Given the description of an element on the screen output the (x, y) to click on. 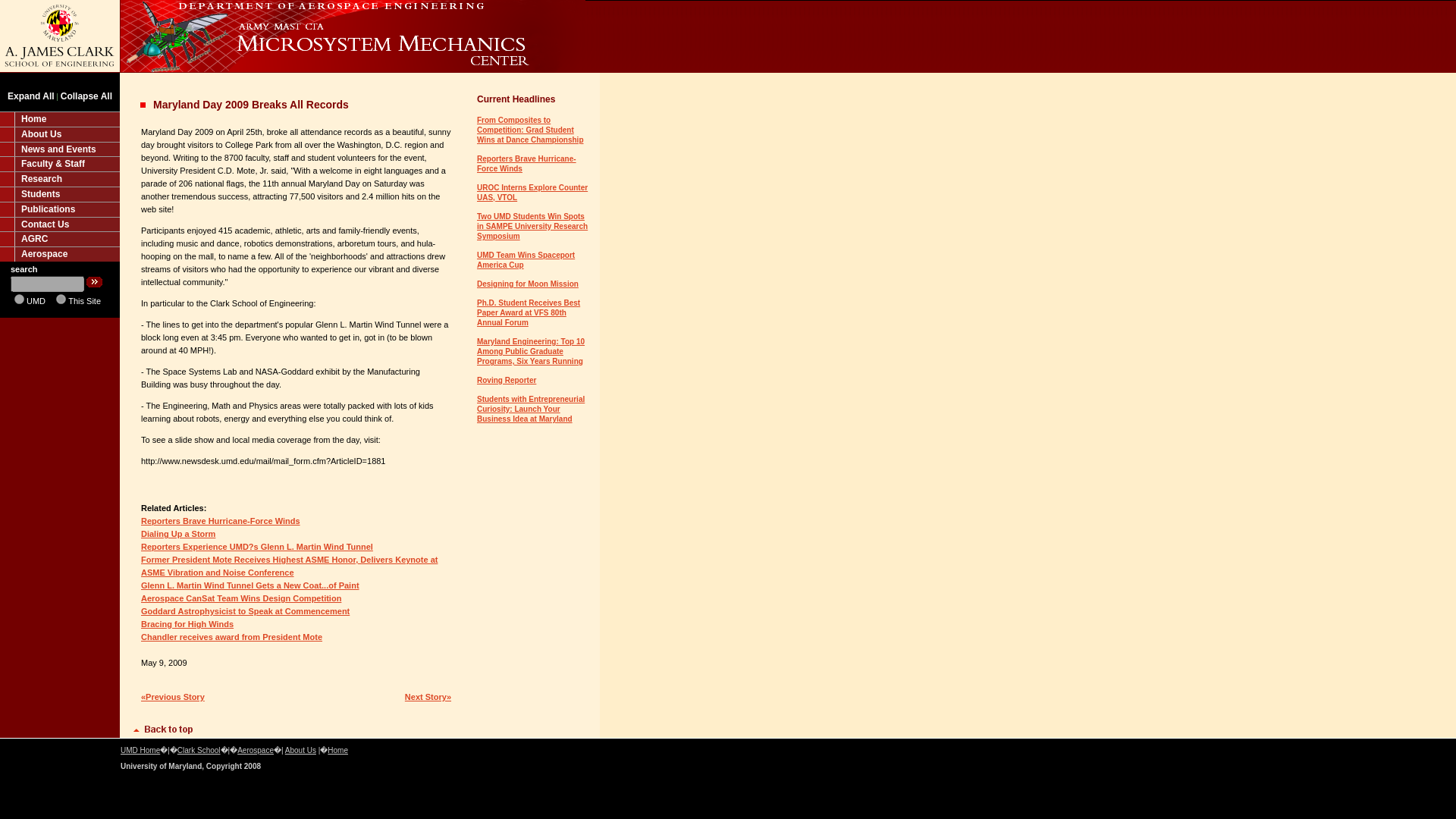
Home (59, 118)
Dialing Up a Storm (178, 533)
Goddard Astrophysicist to Speak at Commencement (245, 610)
AGRC (59, 238)
Chandler receives award from President Mote (231, 636)
Reporters Experience UMD?s Glenn L. Martin Wind Tunnel (256, 546)
Search (93, 281)
Reporters Brave Hurricane-Force Winds (220, 520)
Contact Us (59, 224)
Expand All (31, 95)
Collapse All (86, 95)
Reporters Brave Hurricane-Force Winds (526, 163)
News and Events (59, 149)
